Given the description of an element on the screen output the (x, y) to click on. 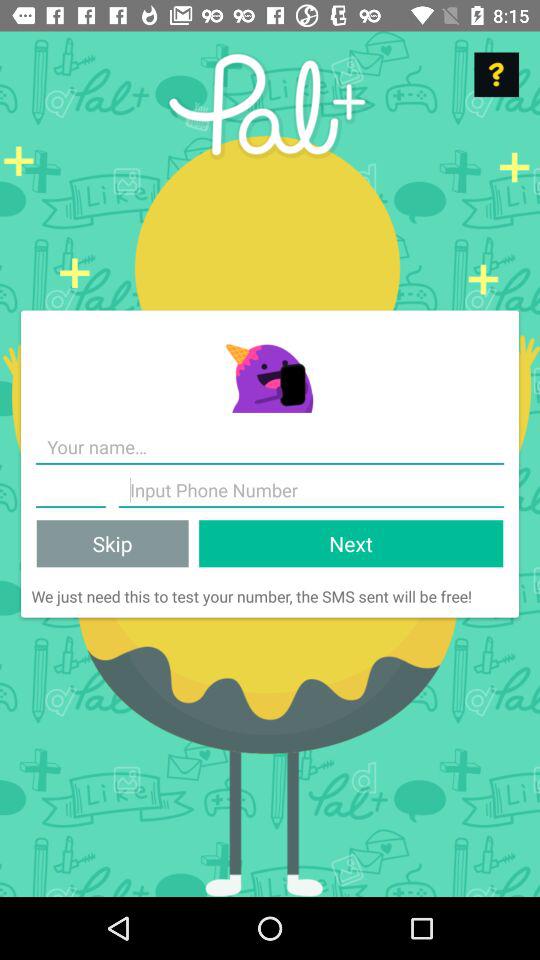
learn more (496, 74)
